Given the description of an element on the screen output the (x, y) to click on. 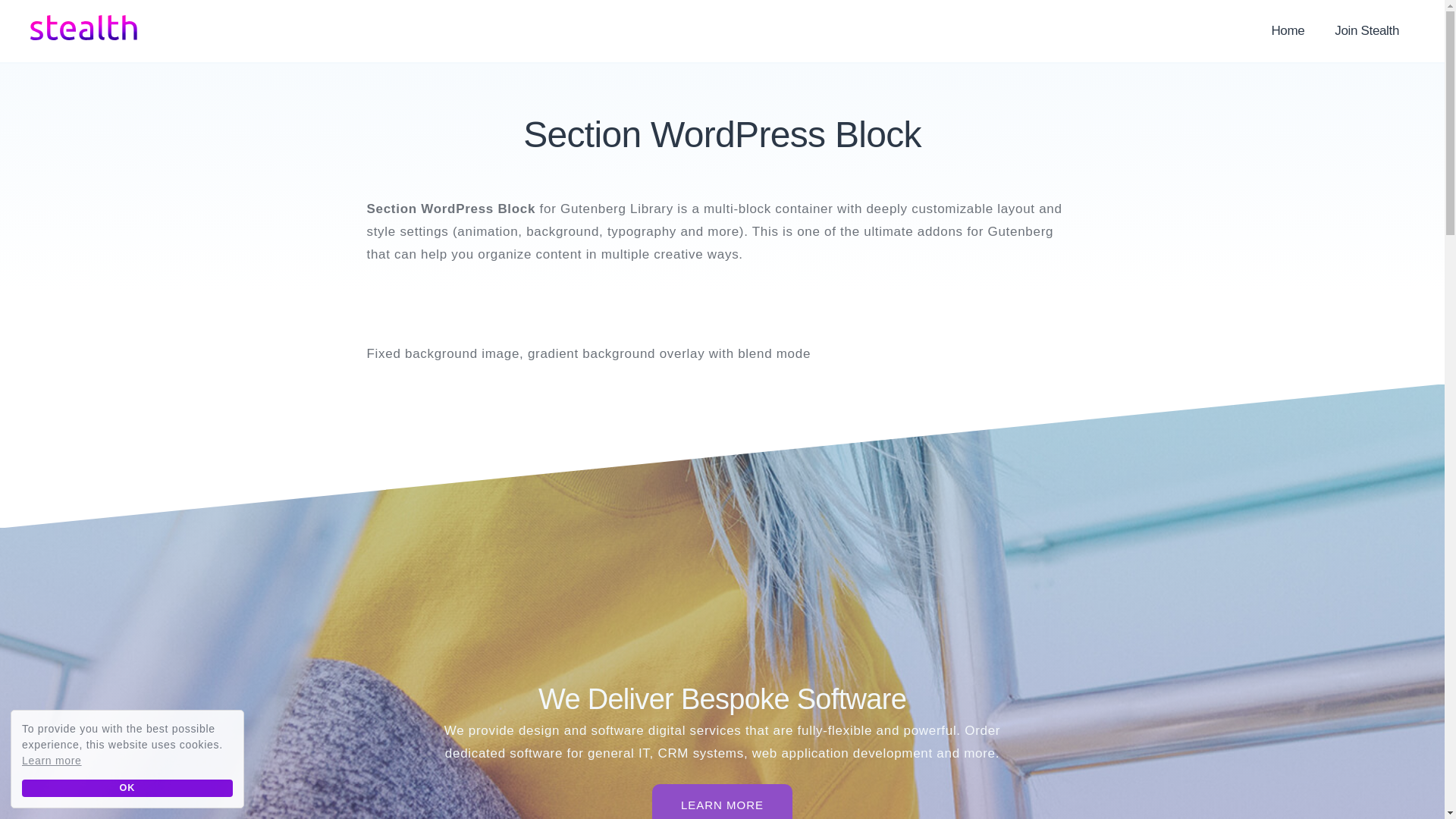
Home (1287, 30)
OK (126, 787)
Learn more (51, 760)
Join Stealth (1366, 30)
LEARN MORE (722, 801)
